Given the description of an element on the screen output the (x, y) to click on. 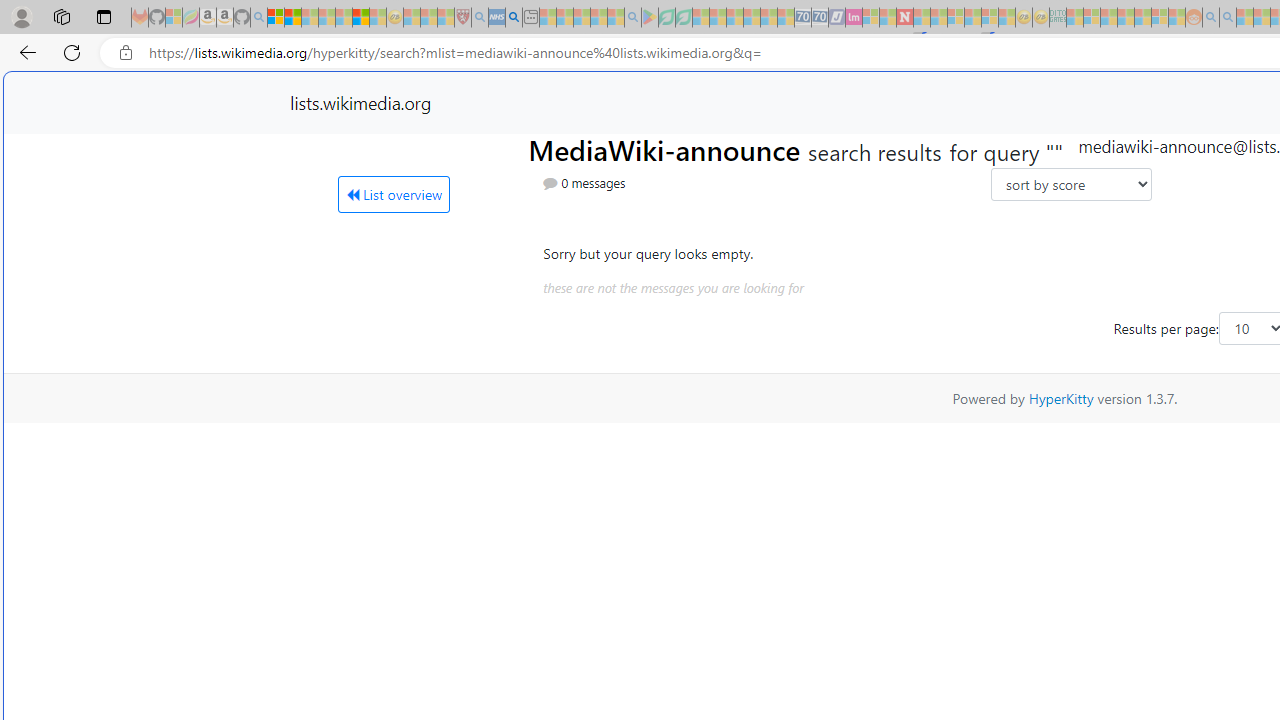
HyperKitty (1060, 398)
Latest Politics News & Archive | Newsweek.com - Sleeping (904, 17)
google - Search - Sleeping (632, 17)
